Given the description of an element on the screen output the (x, y) to click on. 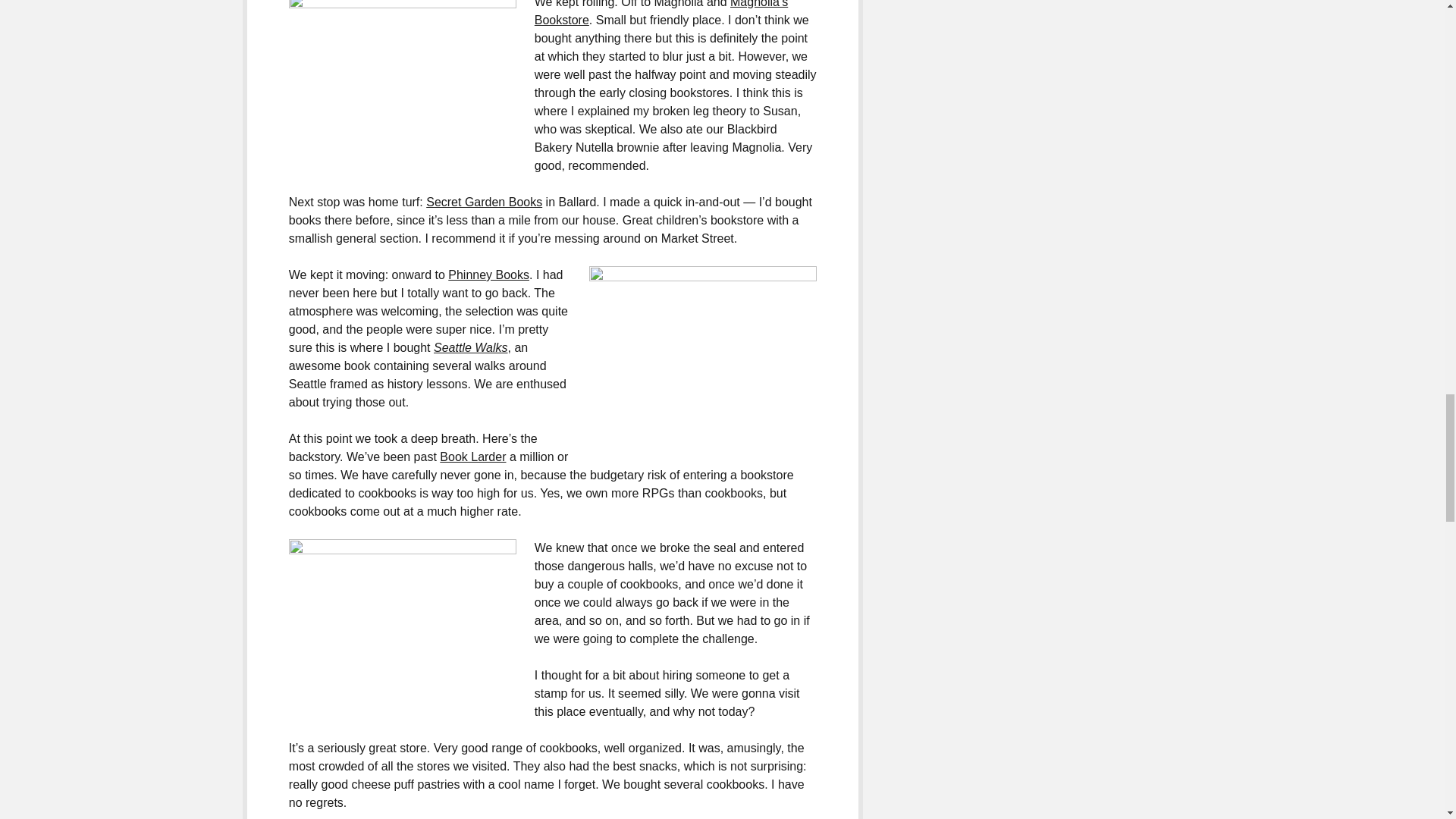
Secret Garden Books (483, 201)
Seattle Walks (470, 347)
Book Larder (472, 456)
Phinney Books (488, 274)
